Given the description of an element on the screen output the (x, y) to click on. 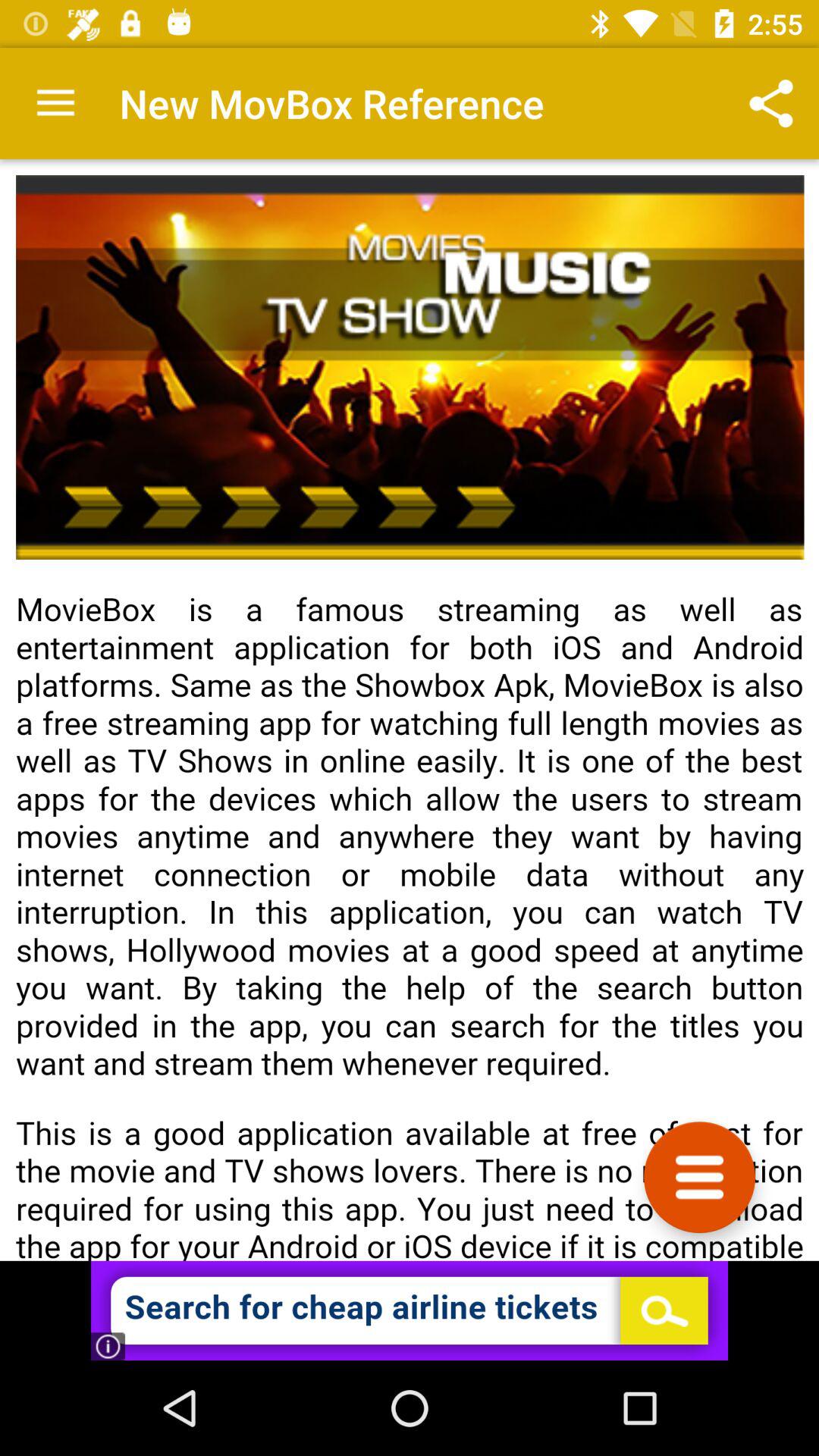
search option (409, 1310)
